Given the description of an element on the screen output the (x, y) to click on. 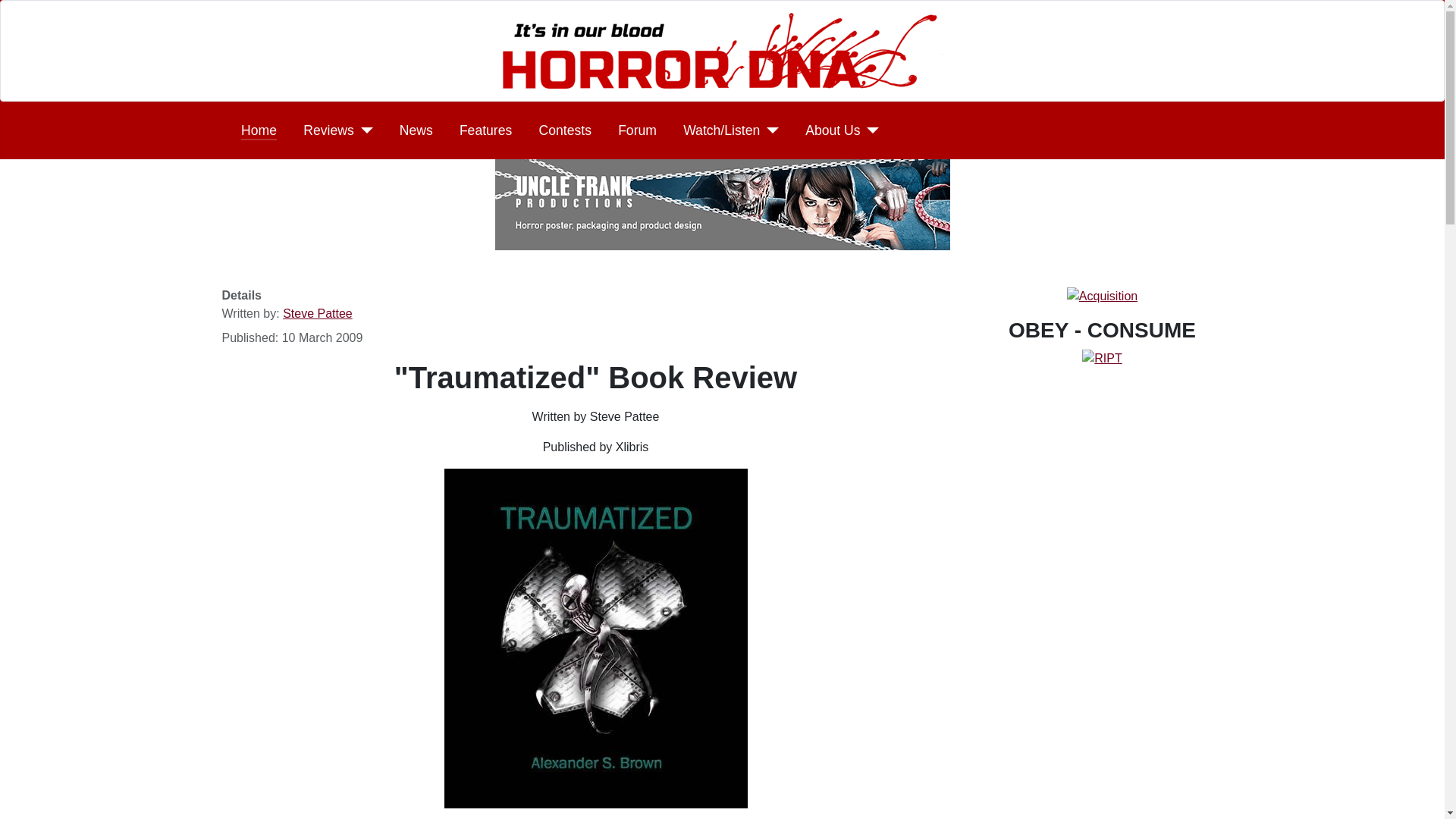
Forum (636, 130)
Features (486, 130)
Acquisition (1102, 295)
News (415, 130)
Contests (564, 130)
Reviews (337, 130)
Steve Pattee (317, 313)
RIPT (1101, 357)
Home (258, 130)
DNA Banner 02 (722, 49)
About Us (842, 130)
